Given the description of an element on the screen output the (x, y) to click on. 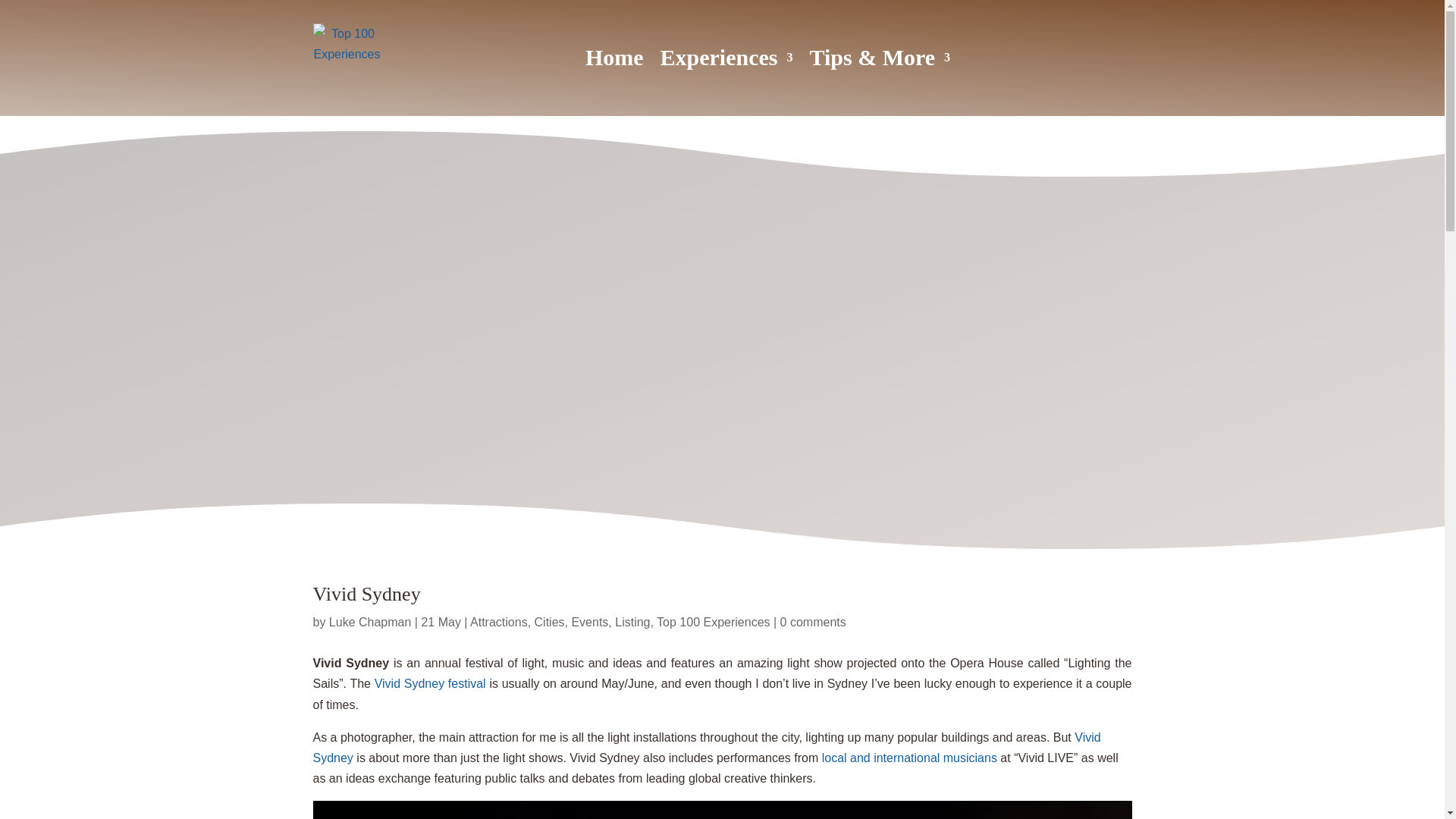
Top 100 Experiences (713, 621)
Vivid Sydney Homepage (430, 683)
Posts by Luke Chapman (370, 621)
Attractions (498, 621)
Cities (549, 621)
0 comments (812, 621)
local and international musicians (909, 757)
Vivid Sydney festival (430, 683)
Events (589, 621)
Luke Chapman (370, 621)
